Given the description of an element on the screen output the (x, y) to click on. 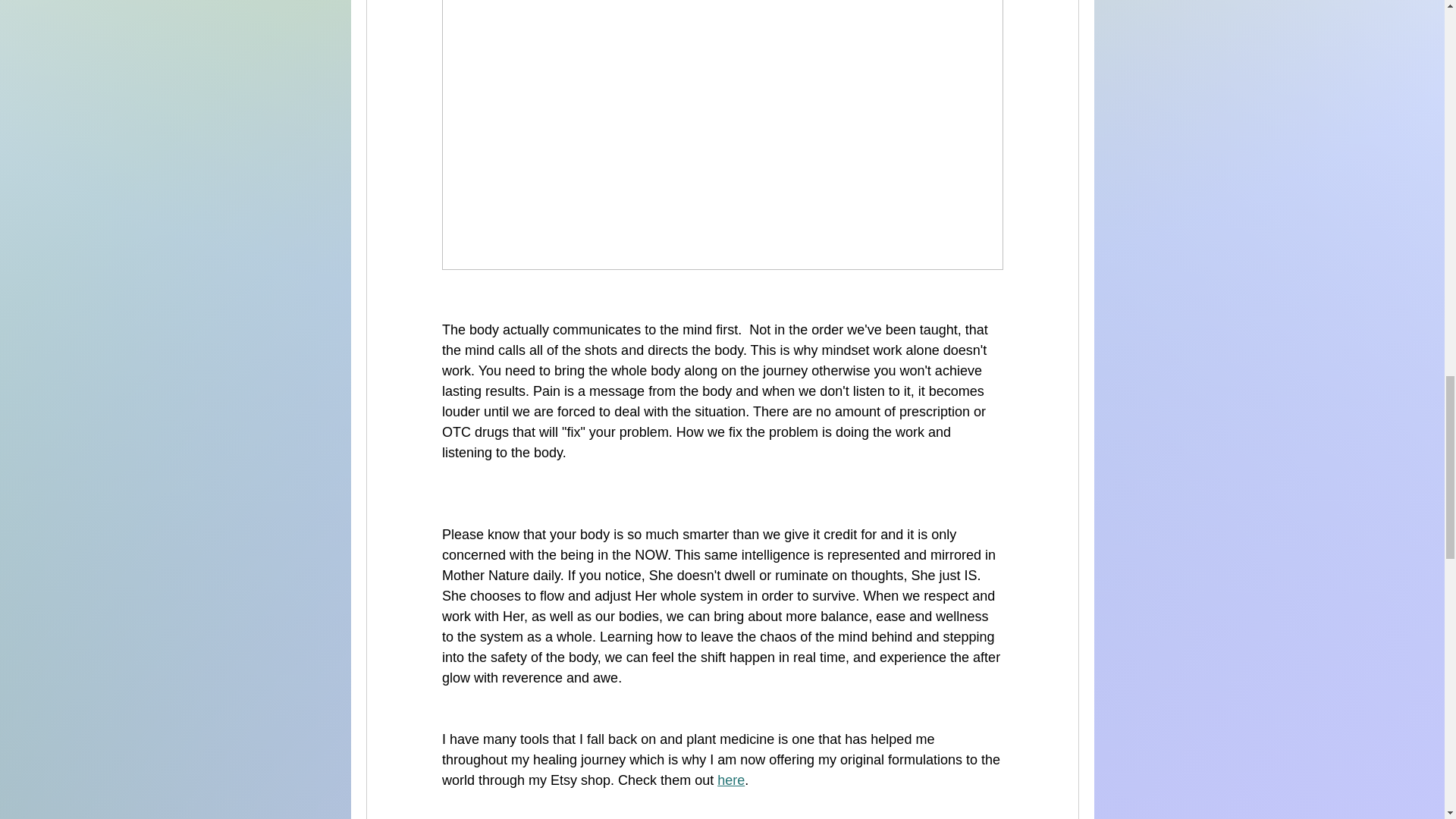
here (730, 780)
